Given the description of an element on the screen output the (x, y) to click on. 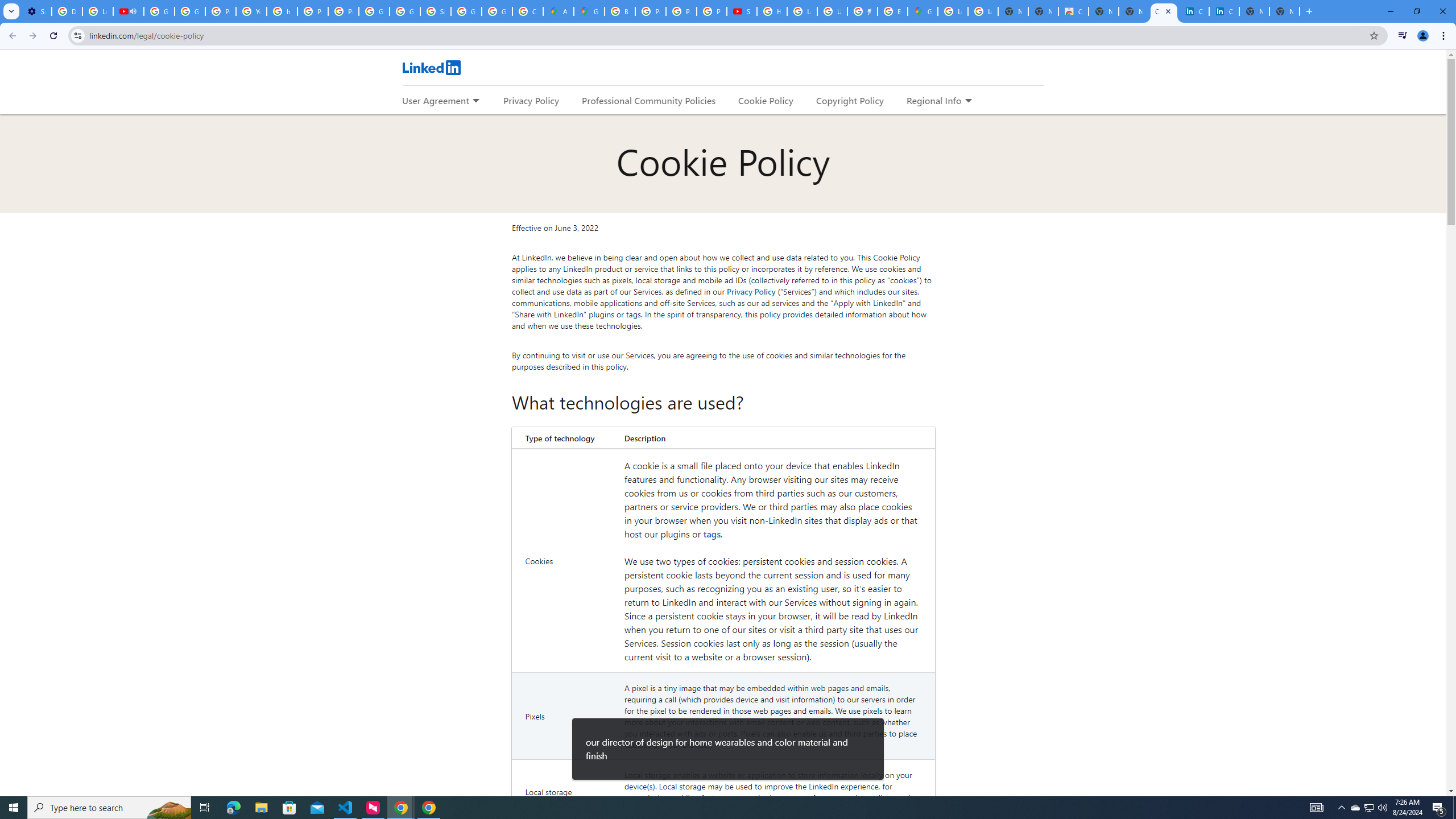
LinkedIn Logo (430, 67)
